Given the description of an element on the screen output the (x, y) to click on. 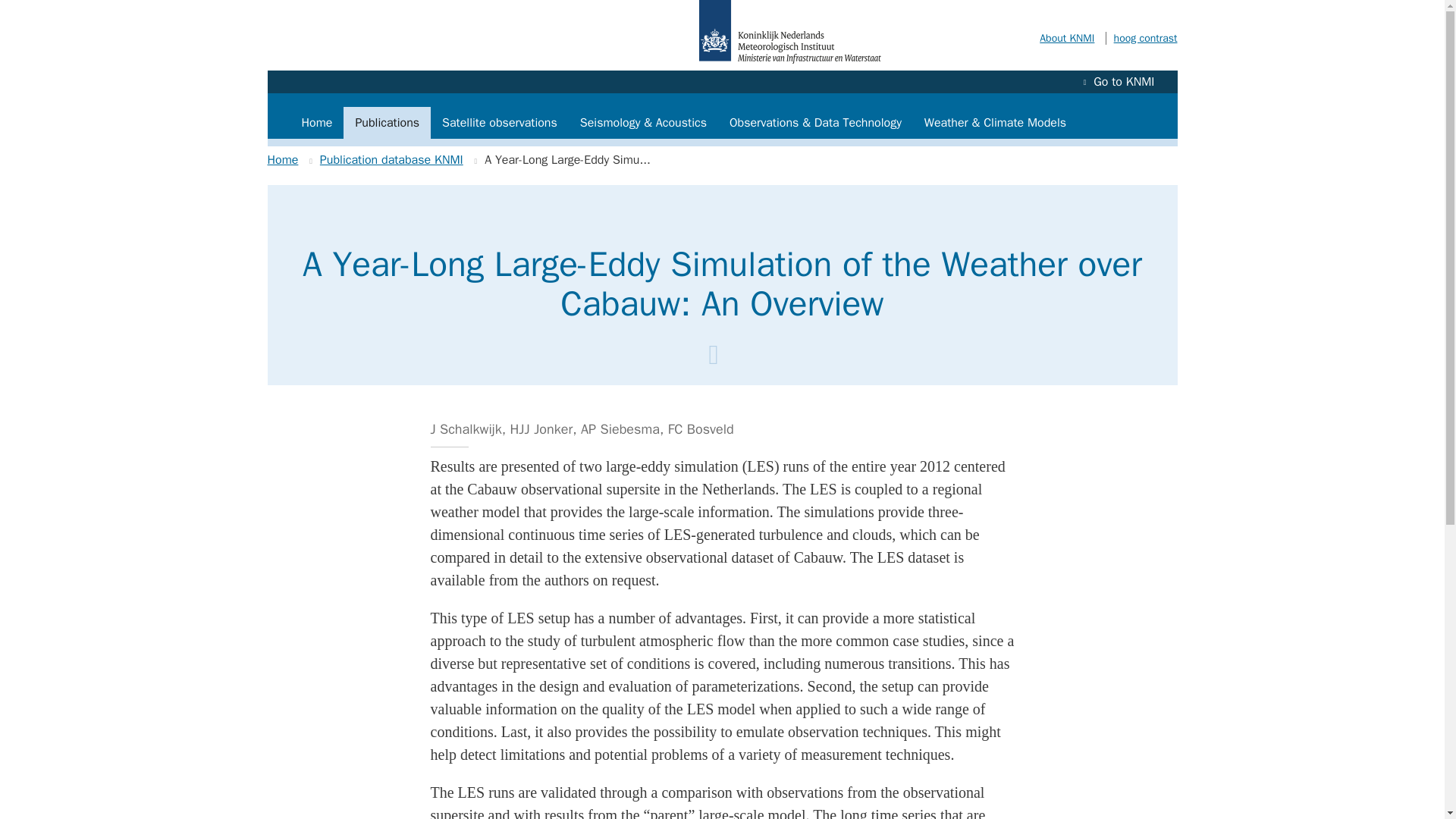
Go to KNMI (1118, 81)
hoog contrast (1141, 38)
Publication database KNMI (391, 159)
Satellite observations (499, 122)
About KNMI (1066, 38)
Home (282, 159)
Publications (386, 122)
Home (316, 122)
